Given the description of an element on the screen output the (x, y) to click on. 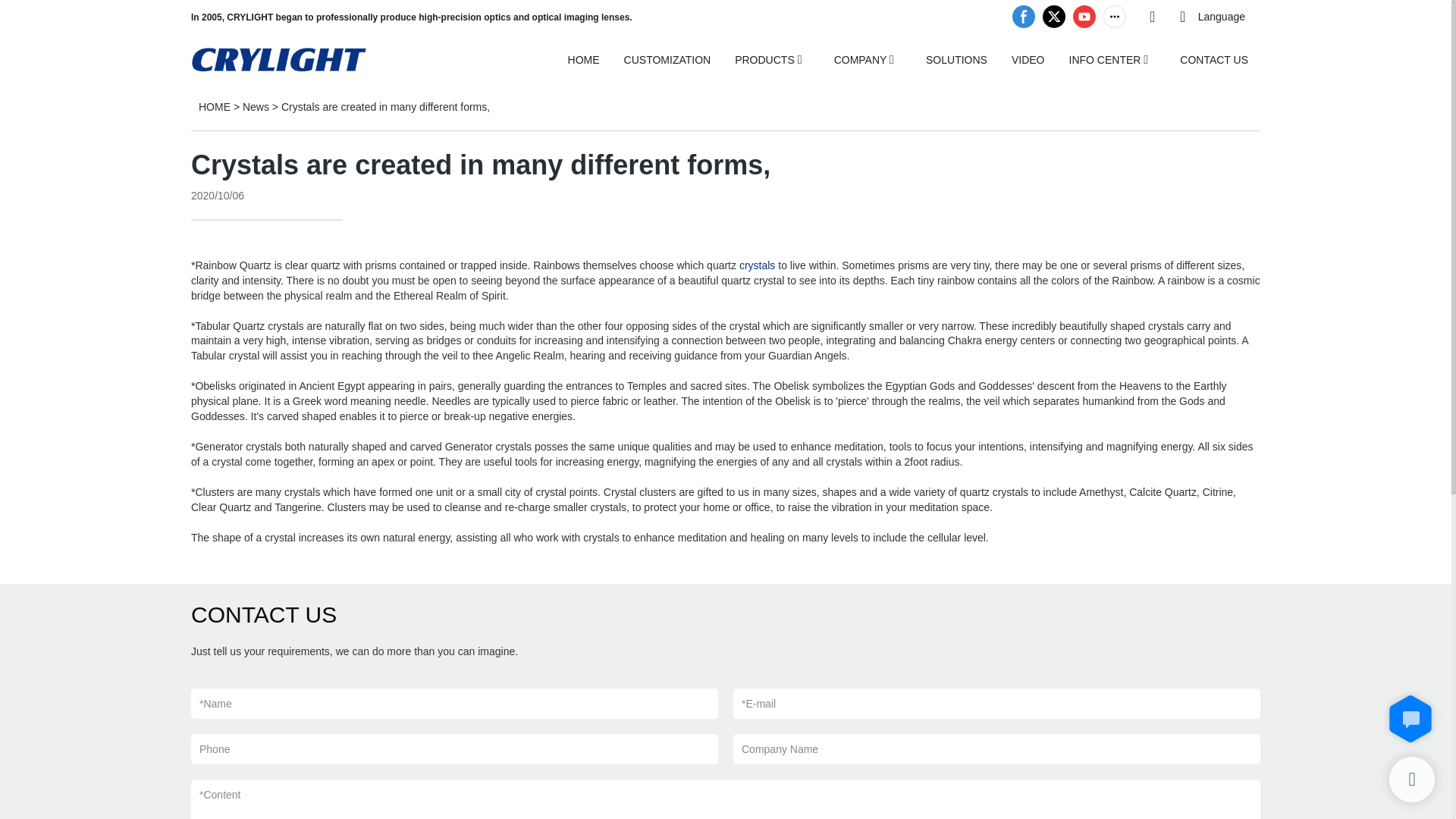
COMPANY (860, 59)
youtube (1083, 16)
facebook (1024, 16)
HOME (583, 59)
PRODUCTS (764, 59)
CUSTOMIZATION (667, 59)
twitter (1053, 16)
crystals (756, 265)
